Given the description of an element on the screen output the (x, y) to click on. 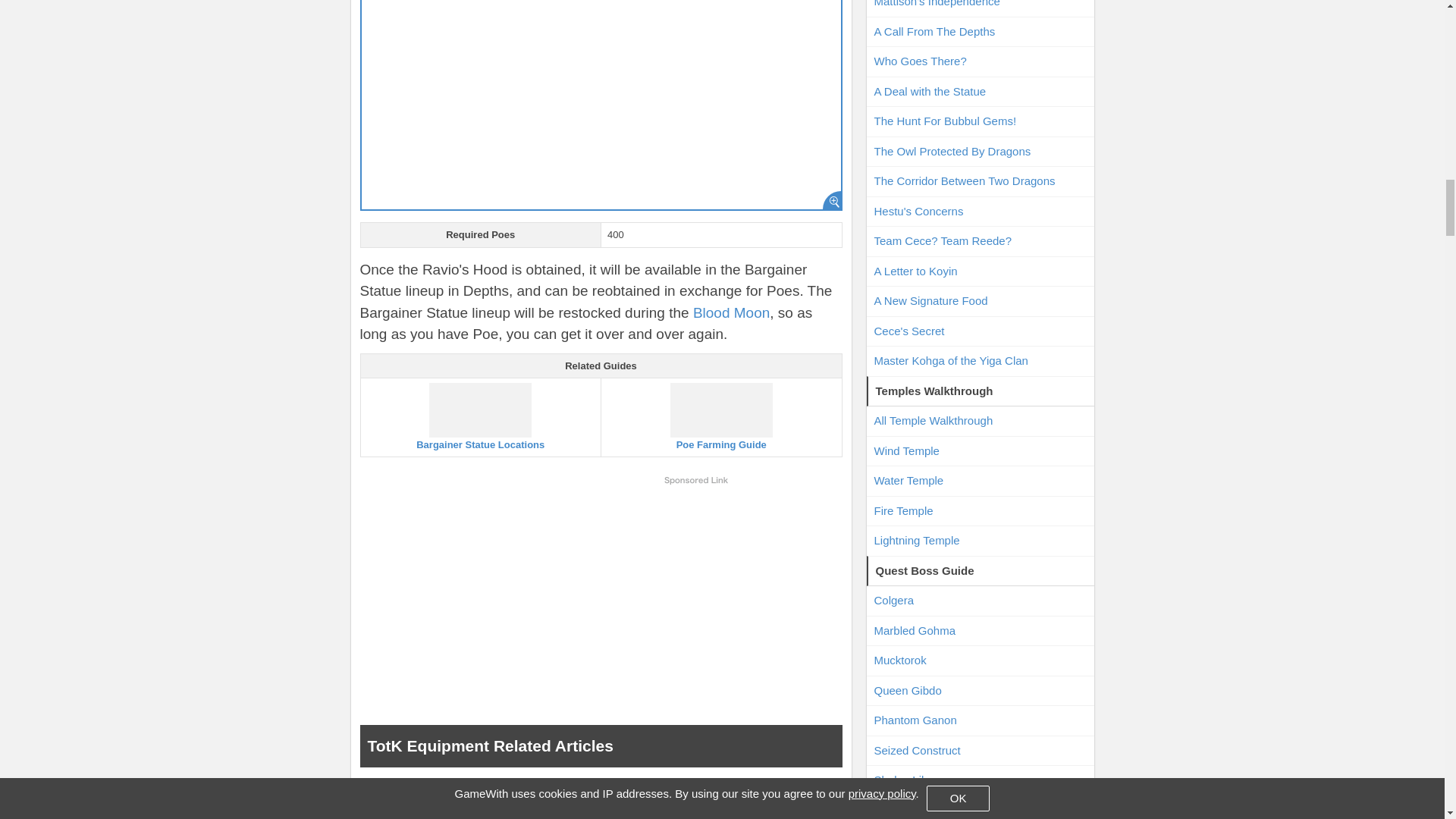
Return To Top (600, 800)
Bargainer Statue Locations (480, 416)
Poe Farming Guide (721, 416)
Blood Moon (731, 312)
